Given the description of an element on the screen output the (x, y) to click on. 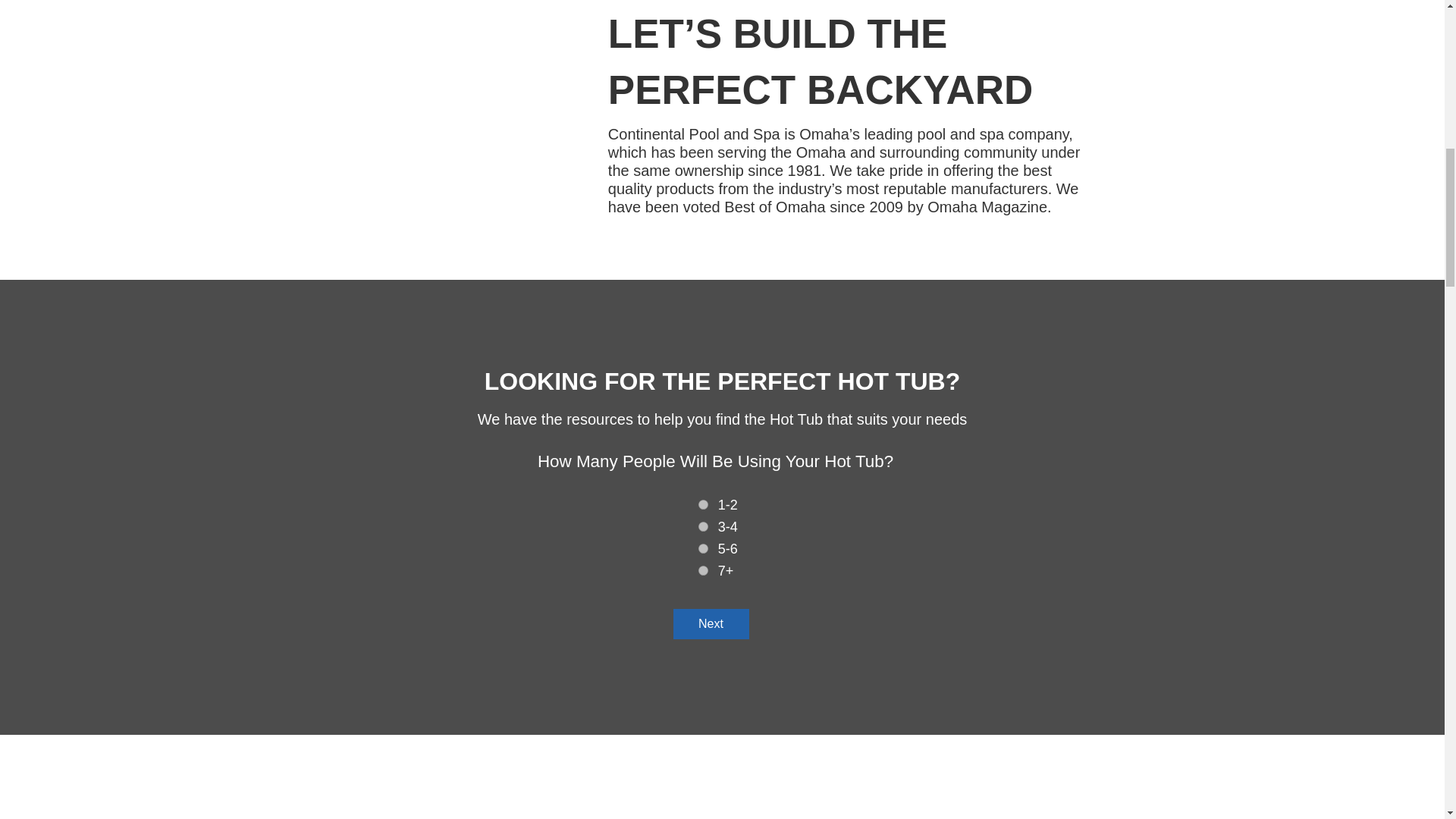
3-4 (702, 526)
5-6 (702, 548)
Next (710, 624)
1-2 (702, 504)
